Given the description of an element on the screen output the (x, y) to click on. 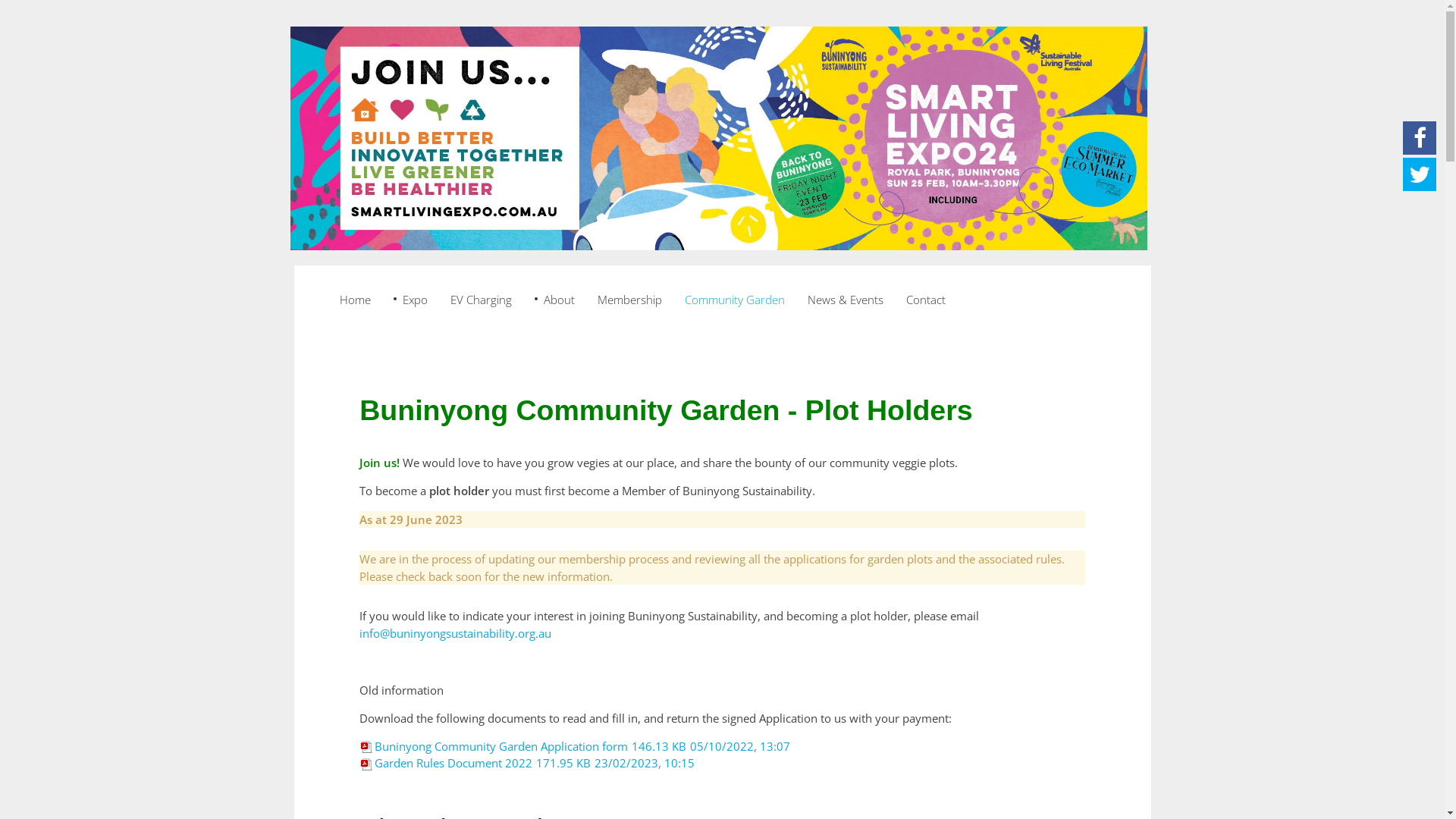
Expo Element type: text (410, 299)
News & Events Element type: text (845, 299)
Community Garden Element type: text (734, 299)
Contact Element type: text (925, 299)
Garden Rules Document 2022171.95 KB23/02/2023, 10:15 Element type: text (526, 762)
Membership Element type: text (629, 299)
info@buninyongsustainability.org.au Element type: text (455, 632)
Home Element type: text (355, 299)
EV Charging Element type: text (481, 299)
